Given the description of an element on the screen output the (x, y) to click on. 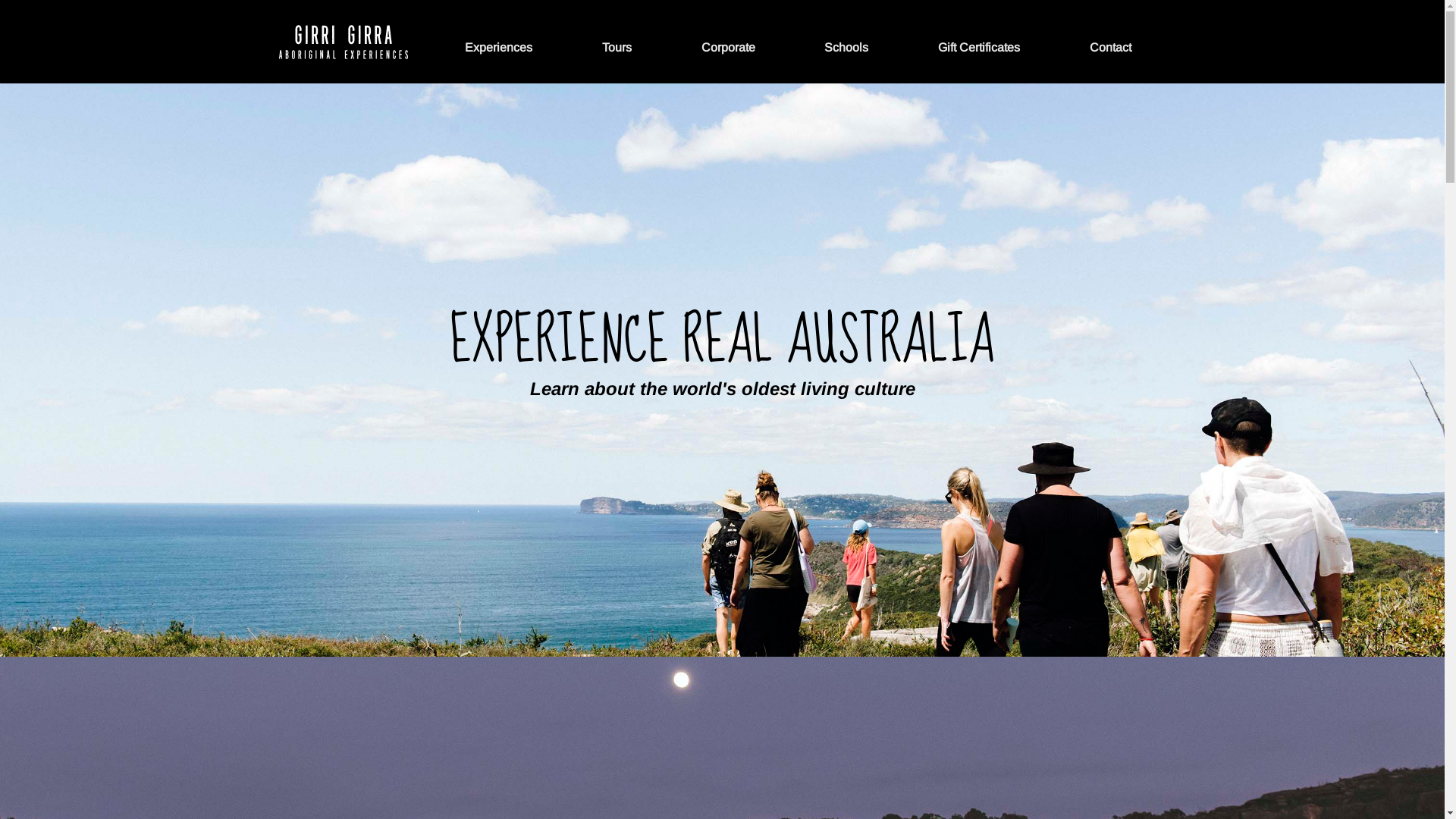
Schools Element type: text (846, 46)
Gift Certificates Element type: text (978, 46)
Experiences Element type: text (498, 46)
Corporate Element type: text (728, 46)
Contact Element type: text (1110, 46)
Tours Element type: text (616, 46)
